Given the description of an element on the screen output the (x, y) to click on. 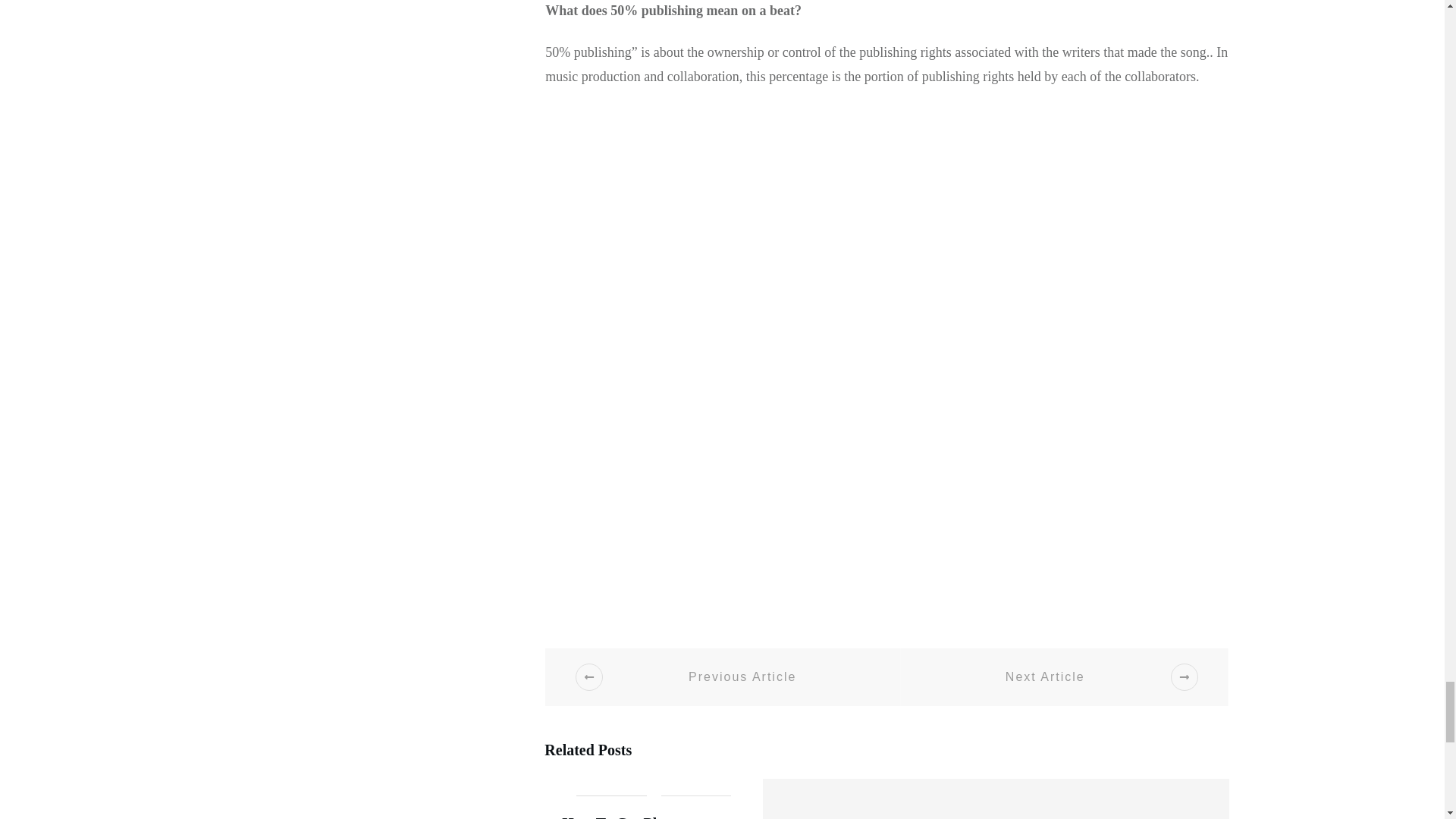
Next Article (1064, 676)
How To Get Placements as a Music Producer (653, 816)
Previous Article (722, 676)
How To Get Placements as a Music Producer (652, 798)
How To Get Placements as a Music Producer (653, 816)
